Given the description of an element on the screen output the (x, y) to click on. 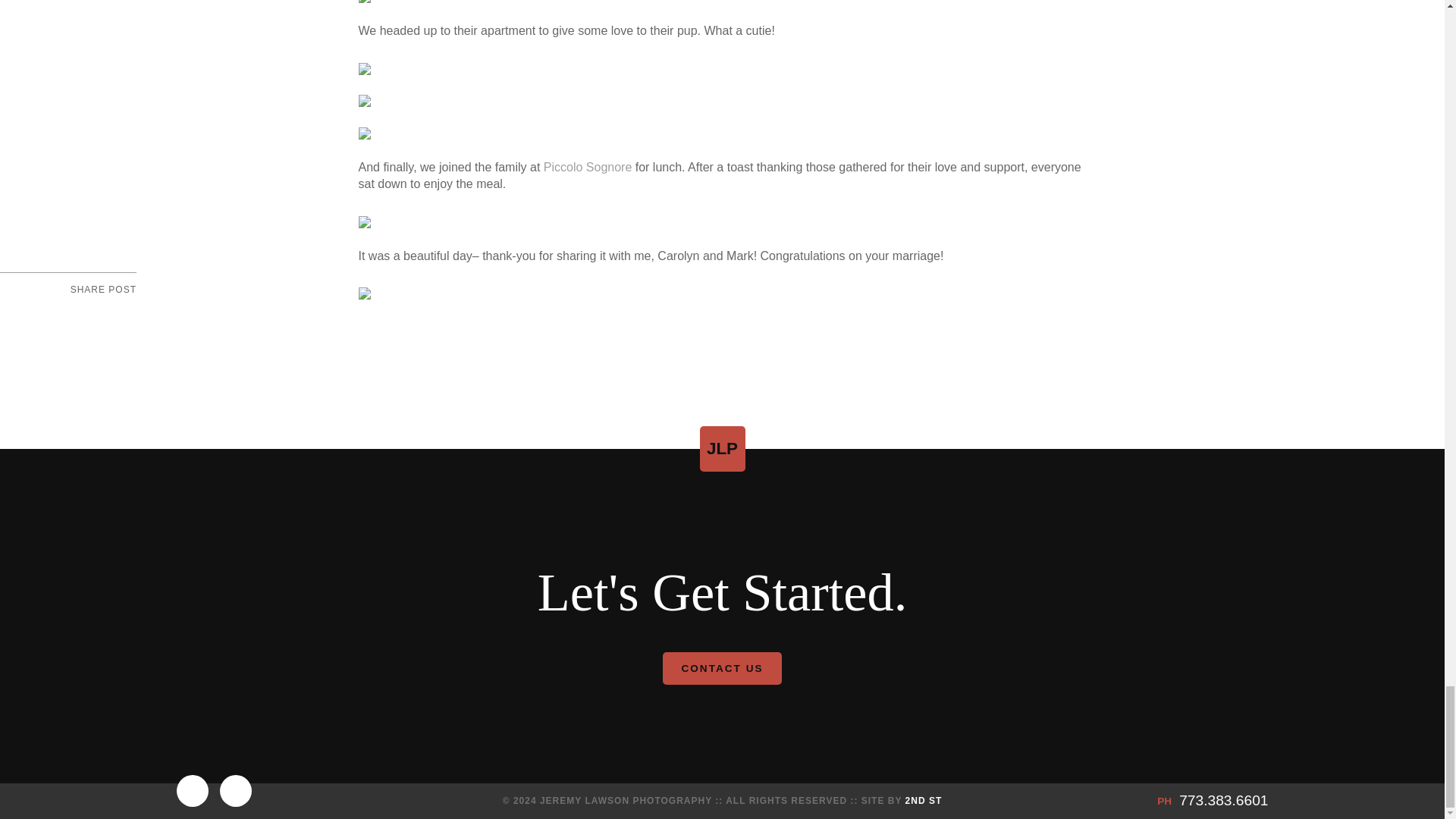
twitter (92, 315)
Piccolo Sognore (587, 166)
Share on Pinterest! (124, 315)
Facebook (235, 790)
Tweet this! (92, 315)
facebook (60, 315)
2ND ST (923, 800)
Instagram (192, 790)
Share on Facebook! (60, 315)
pinterest (124, 315)
